Given the description of an element on the screen output the (x, y) to click on. 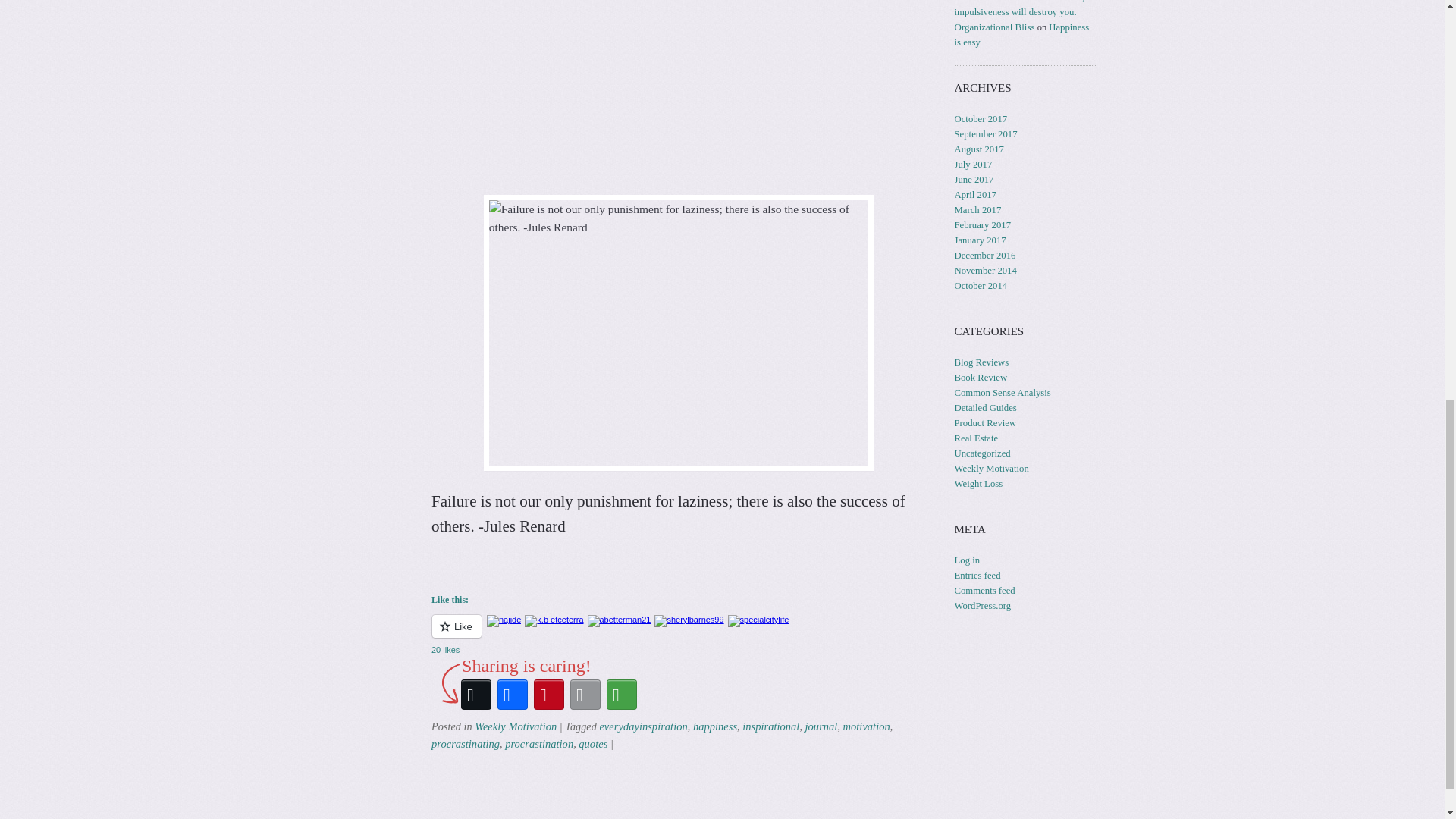
everydayinspiration (642, 726)
Like or Reblog (677, 635)
quotes (592, 743)
inspirational (770, 726)
procrastination (539, 743)
happiness (714, 726)
journal (821, 726)
Email This (585, 694)
Weekly Motivation (515, 726)
motivation (866, 726)
procrastinating (464, 743)
Advertisement (677, 89)
Pinterest (549, 694)
Facebook (513, 694)
